Given the description of an element on the screen output the (x, y) to click on. 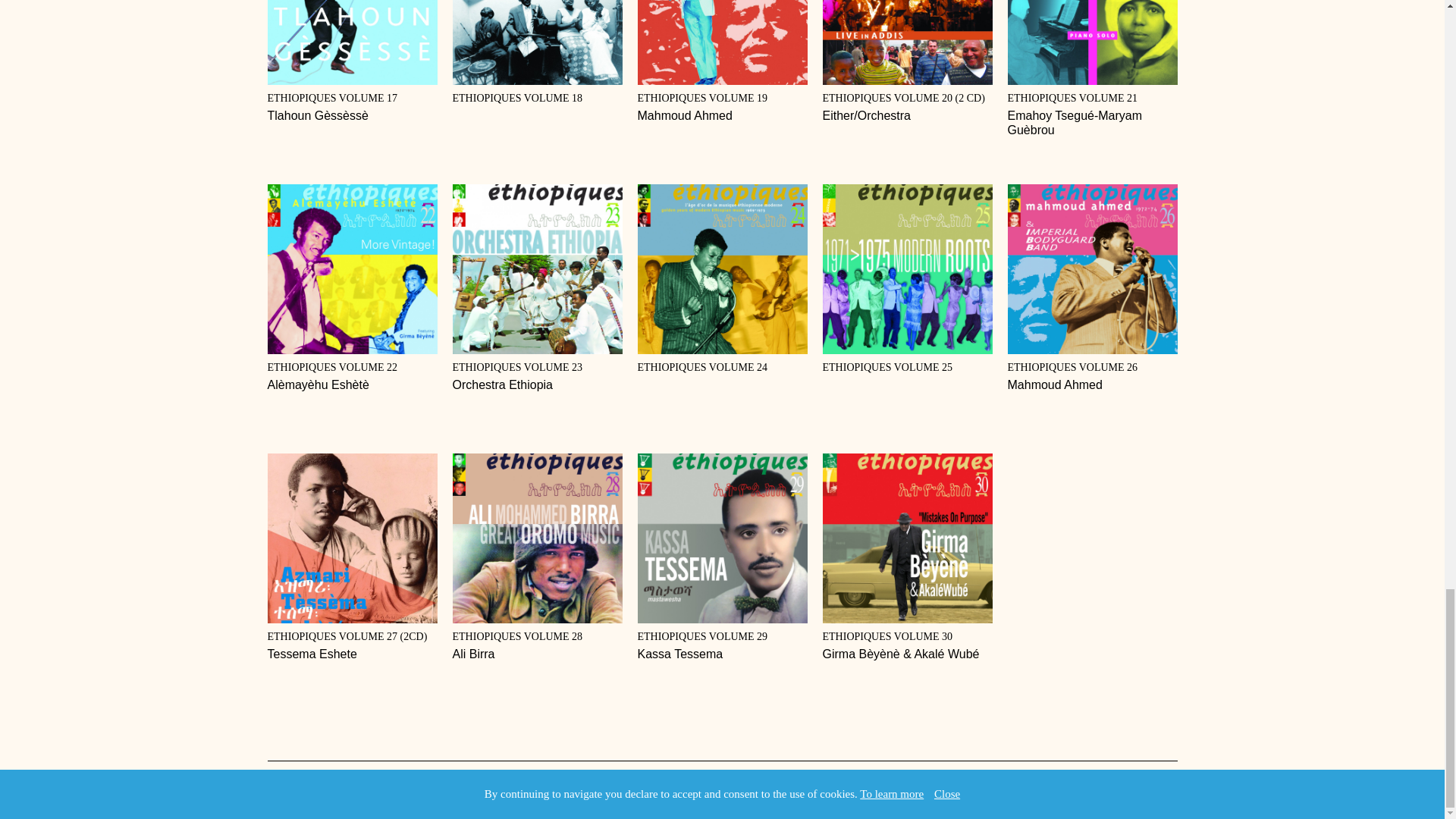
Twitter (721, 61)
ETHIOPIQUES VOLUME 25 (1091, 288)
ETHIOPIQUES VOLUME 18 (296, 791)
Facebook (906, 278)
ETHIOPIQUES VOLUME 24 (536, 52)
Youtube (270, 791)
Instagram (721, 278)
Bandcamp (536, 288)
